Given the description of an element on the screen output the (x, y) to click on. 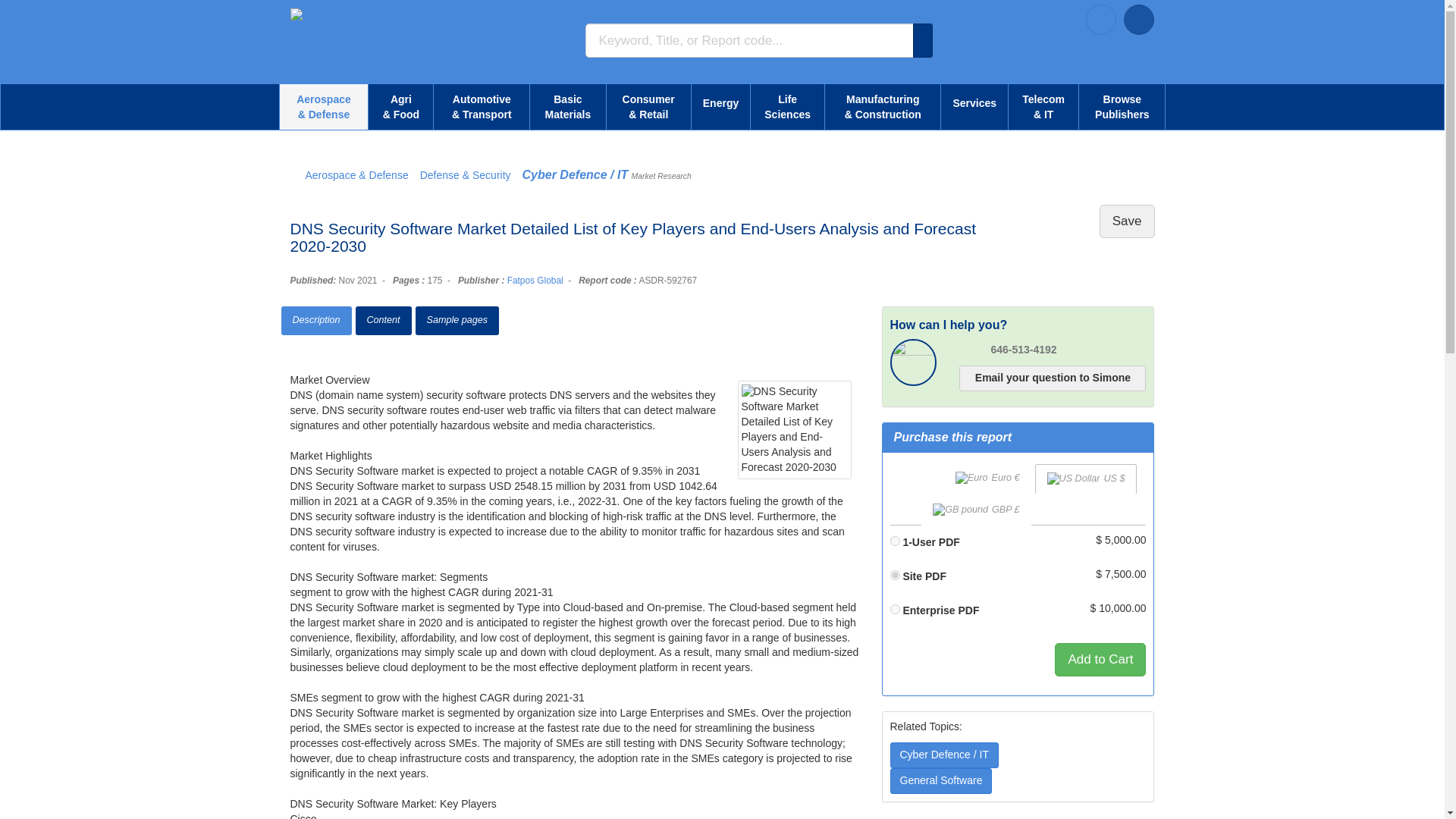
Change currency to US Dollar (1086, 478)
Change currency to Euro (986, 478)
xprice2 (894, 574)
xprice3 (894, 609)
xprice1 (894, 541)
Change currency to GB Pound (975, 510)
